Given the description of an element on the screen output the (x, y) to click on. 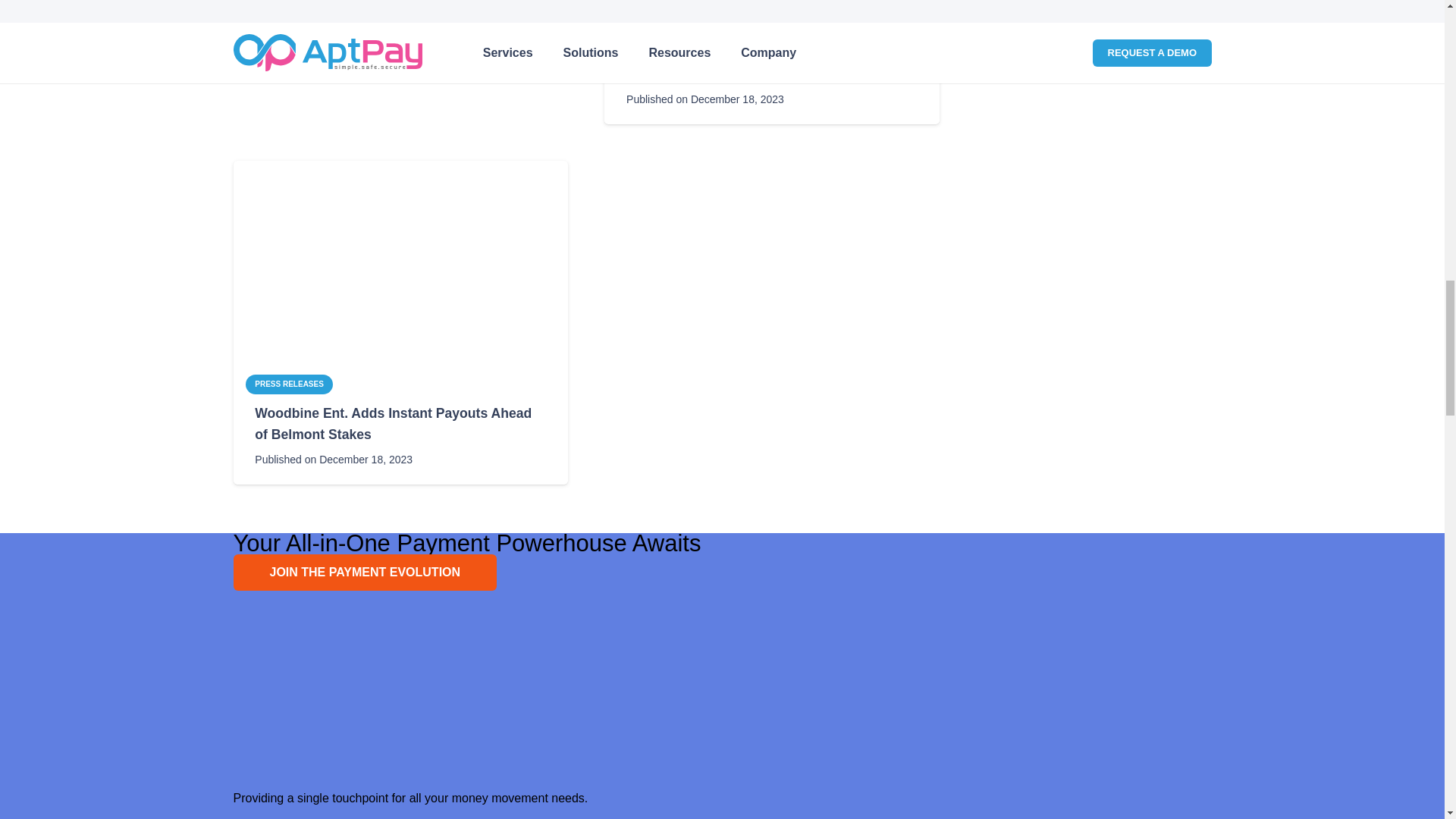
18 December 2023 at 15:02:50 -05:00 (333, 459)
18 December 2023 at 15:13:15 -05:00 (705, 98)
